Given the description of an element on the screen output the (x, y) to click on. 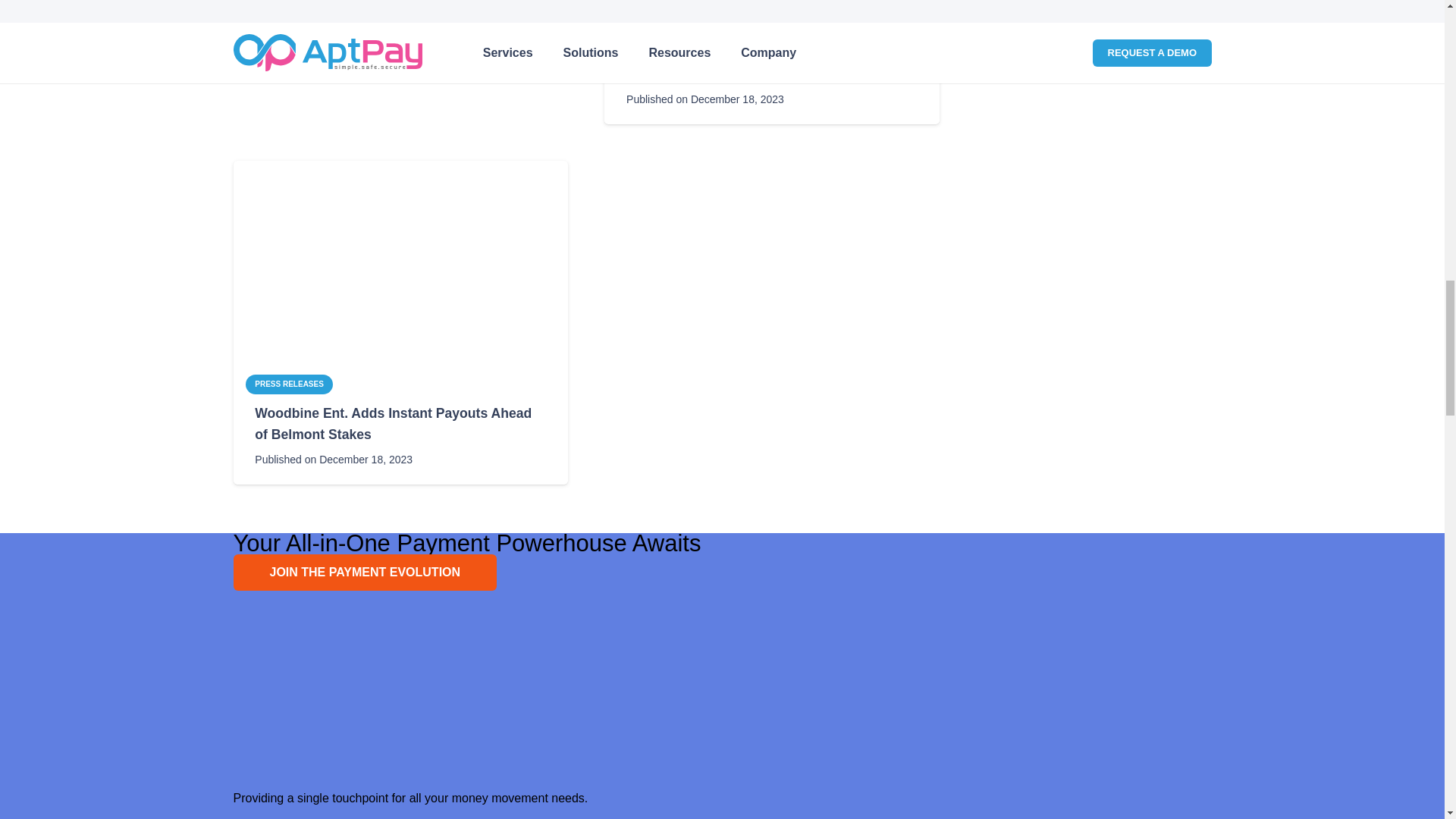
18 December 2023 at 15:02:50 -05:00 (333, 459)
18 December 2023 at 15:13:15 -05:00 (705, 98)
